Given the description of an element on the screen output the (x, y) to click on. 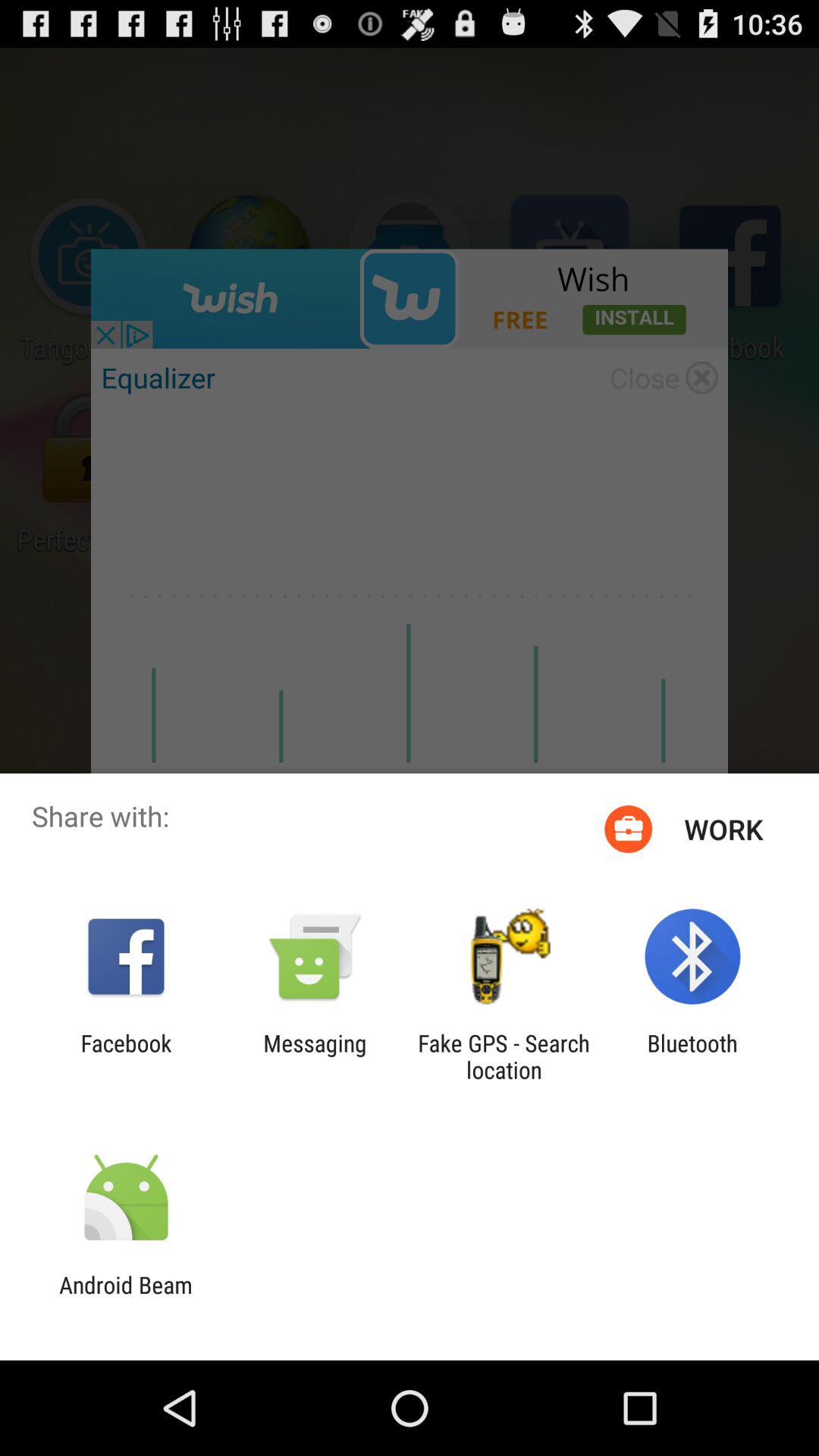
tap the bluetooth at the bottom right corner (692, 1056)
